Given the description of an element on the screen output the (x, y) to click on. 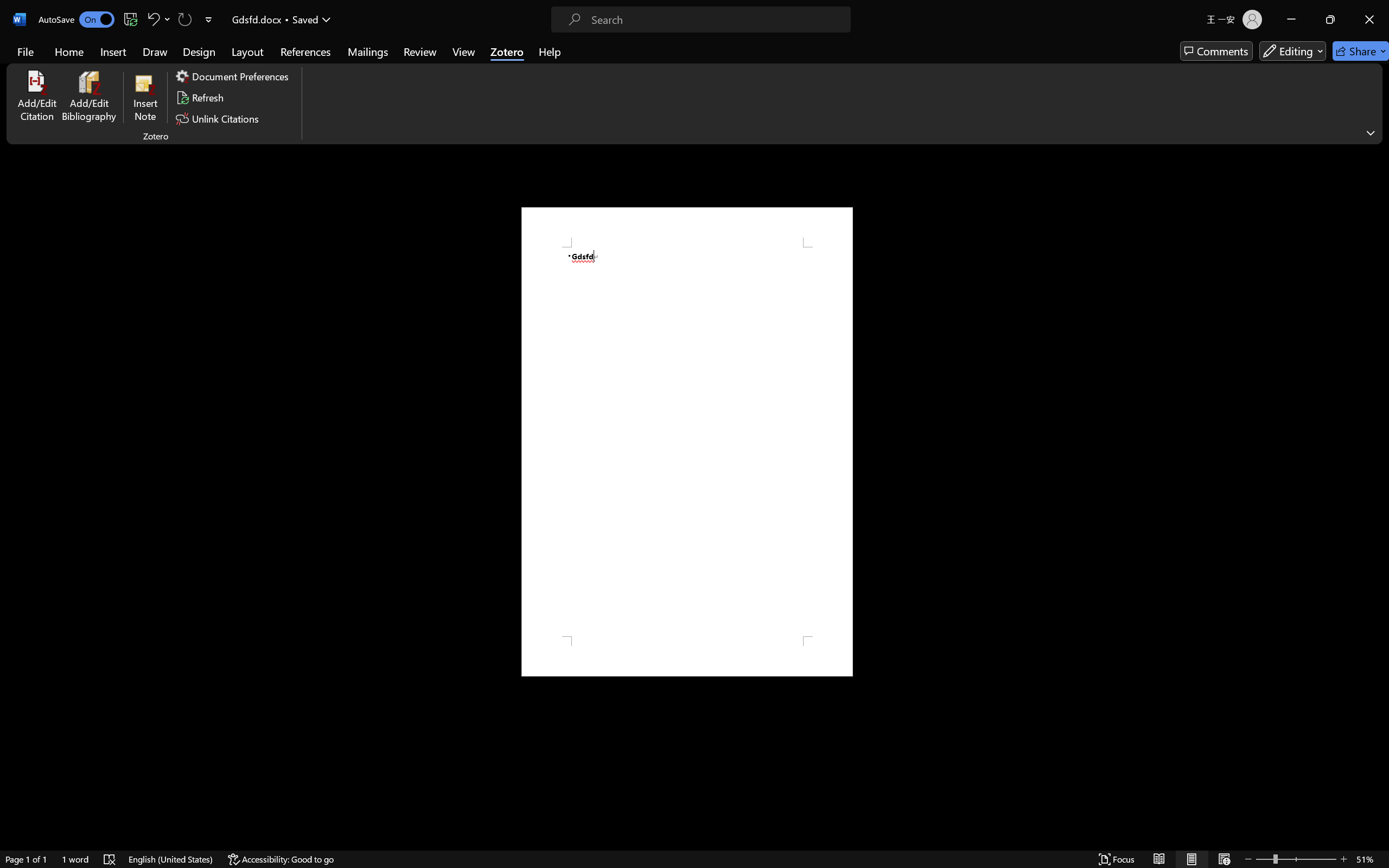
Page 1 content (686, 441)
